Given the description of an element on the screen output the (x, y) to click on. 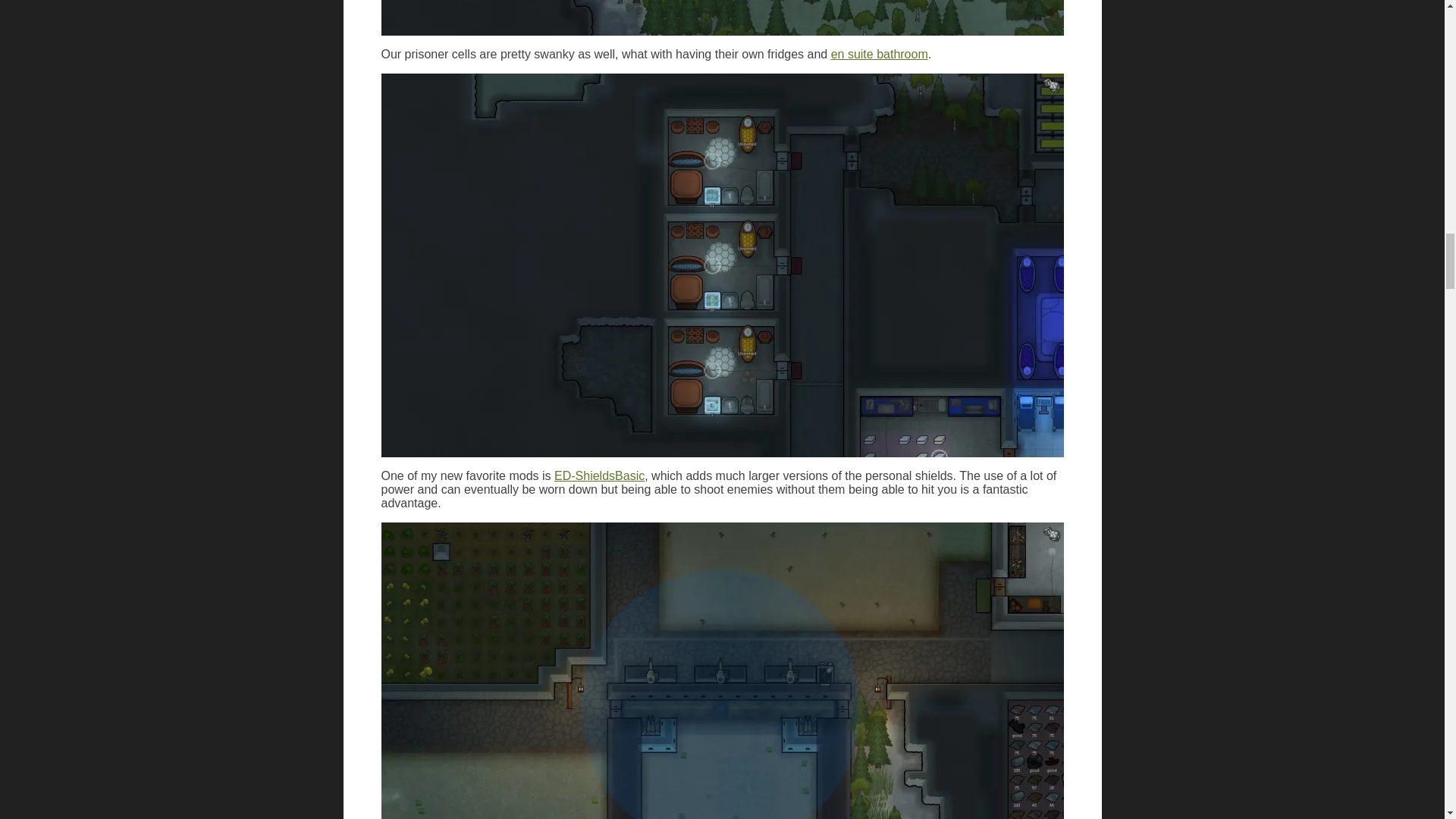
en suite bathroom (879, 53)
ED-ShieldsBasic (599, 475)
